Given the description of an element on the screen output the (x, y) to click on. 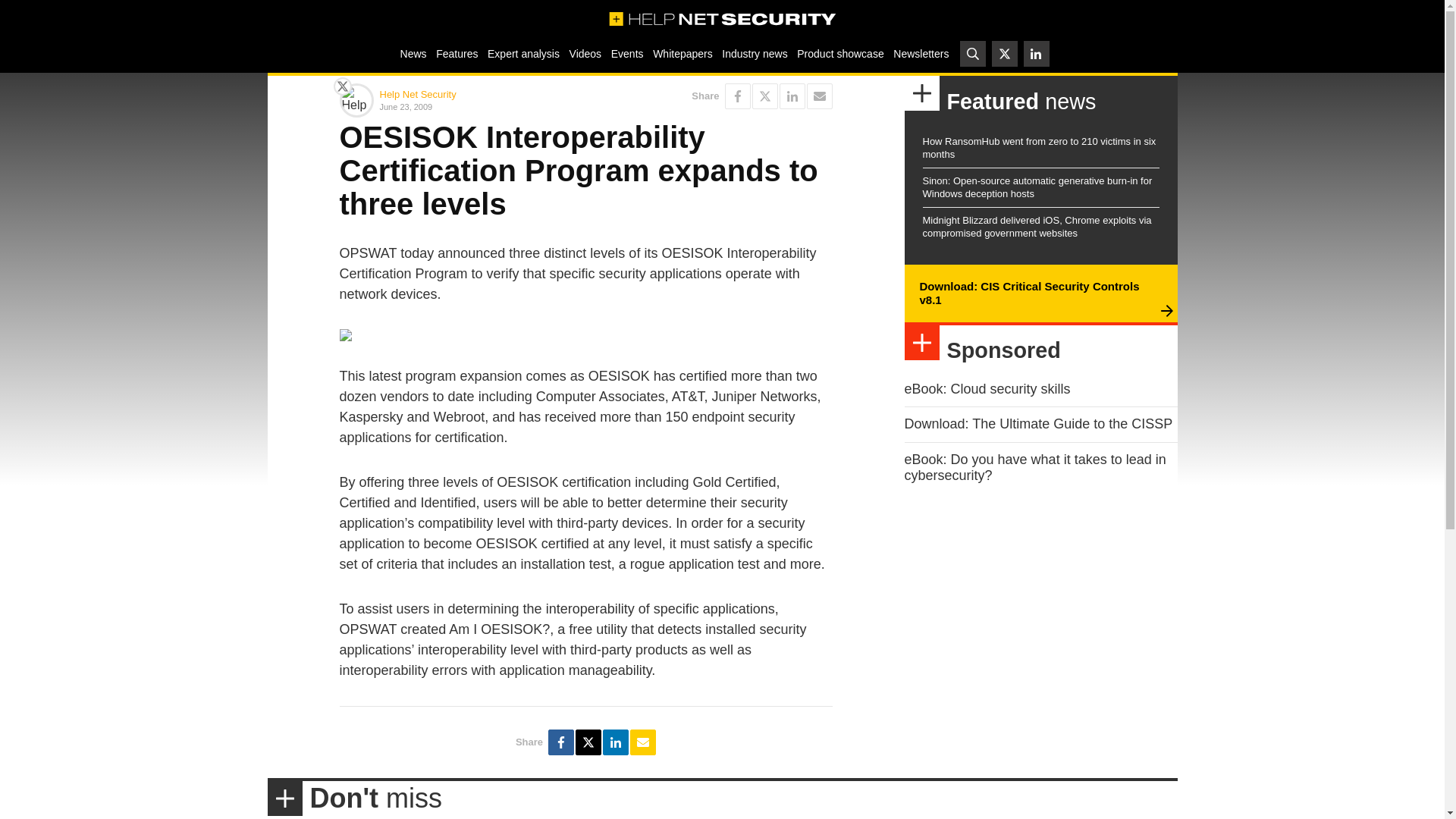
How RansomHub went from zero to 210 victims in six months (1038, 147)
Product showcase (840, 53)
Download: The Ultimate Guide to the CISSP (1038, 423)
Expert analysis (523, 53)
Industry news (754, 53)
